Given the description of an element on the screen output the (x, y) to click on. 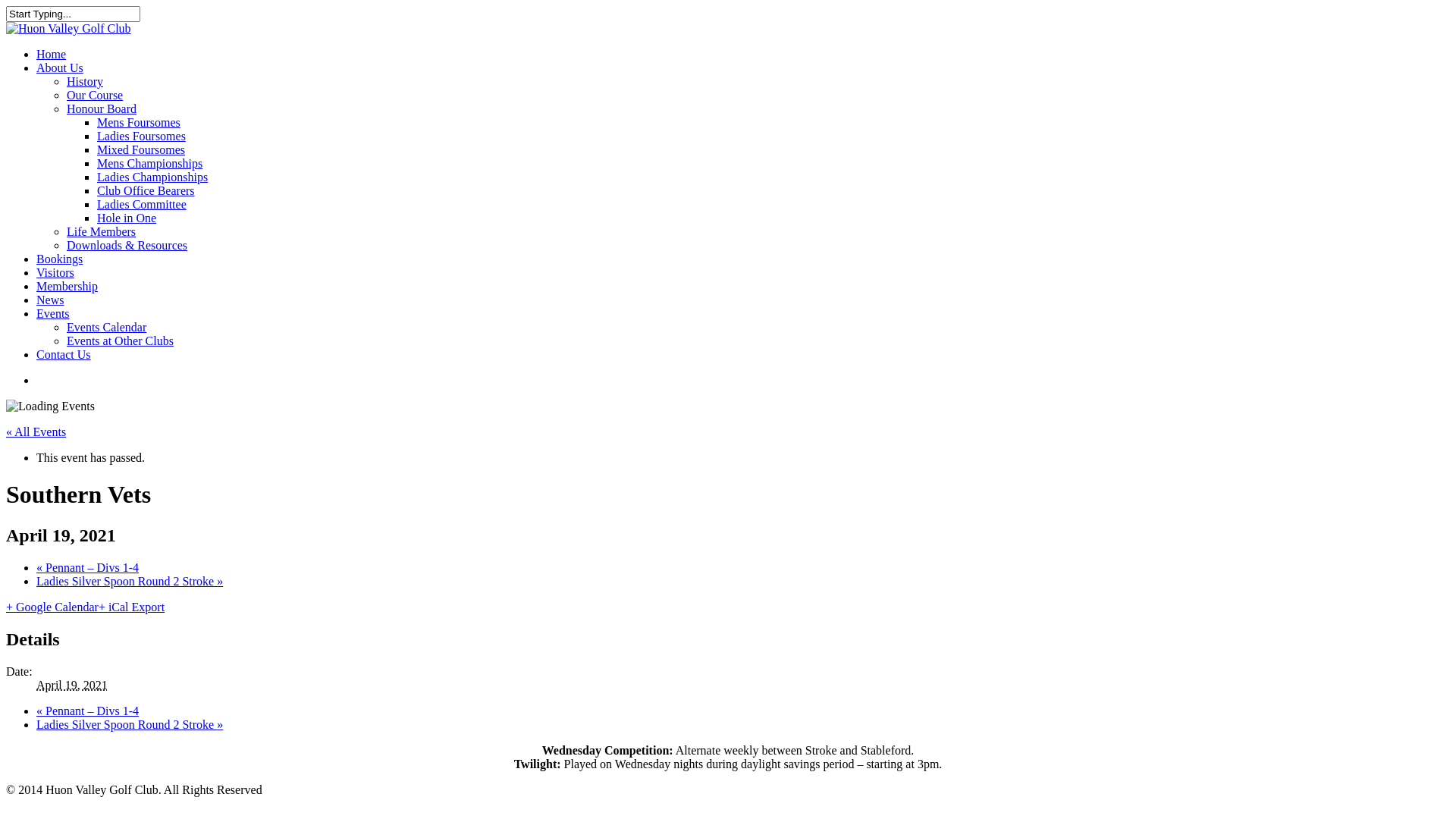
News Element type: text (49, 299)
Close Menu Element type: text (1426, 29)
Membership Element type: text (66, 285)
Events at Other Clubs Element type: text (119, 340)
Home Element type: text (50, 53)
Ladies Championships Element type: text (152, 176)
Visitors Element type: text (55, 272)
Mens Foursomes Element type: text (138, 122)
Events Calendar Element type: text (106, 326)
Contact Us Element type: text (63, 354)
Our Course Element type: text (94, 94)
Hole in One Element type: text (126, 217)
Life Members Element type: text (100, 231)
+ iCal Export Element type: text (131, 606)
Skip to main content Element type: text (5, 5)
Events Element type: text (52, 313)
History Element type: text (84, 81)
Mixed Foursomes Element type: text (141, 149)
Club Office Bearers Element type: text (145, 190)
Ladies Foursomes Element type: text (141, 135)
Honour Board Element type: text (101, 108)
Ladies Committee Element type: text (141, 203)
+ Google Calendar Element type: text (52, 606)
Bookings Element type: text (59, 258)
Mens Championships Element type: text (149, 162)
Downloads & Resources Element type: text (126, 244)
About Us Element type: text (59, 67)
